Given the description of an element on the screen output the (x, y) to click on. 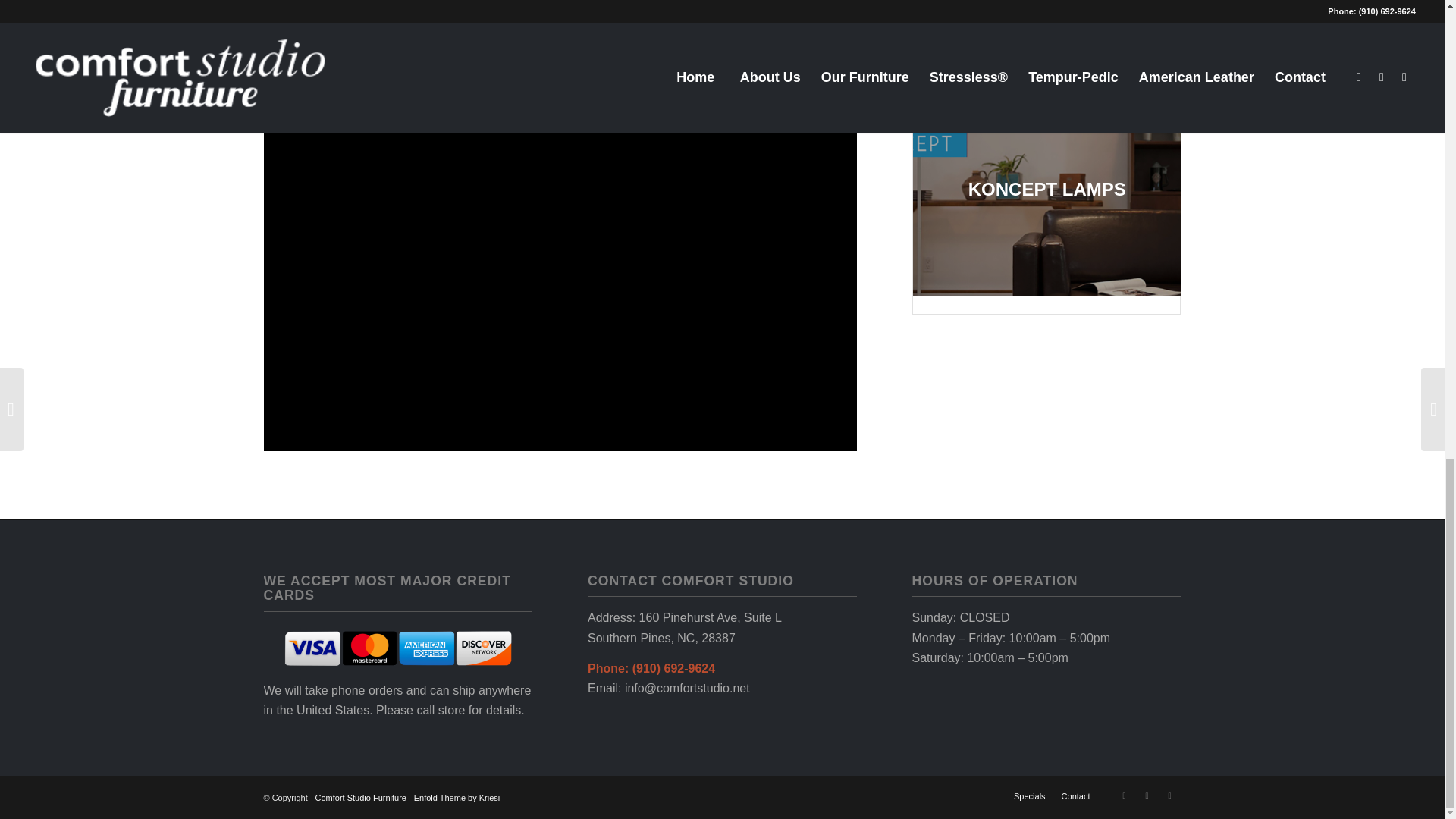
KONCEPT LAMPS (1052, 195)
American Leather Sleeper Sofa (1052, 41)
Comfort Studio Furniture (360, 797)
Contact (1075, 795)
Specials (1029, 795)
American Leather Sleeper Sofa (1046, 36)
AMERICAN LEATHER SLEEPER SOFAS (1052, 41)
Enfold Theme by Kriesi (456, 797)
